Given the description of an element on the screen output the (x, y) to click on. 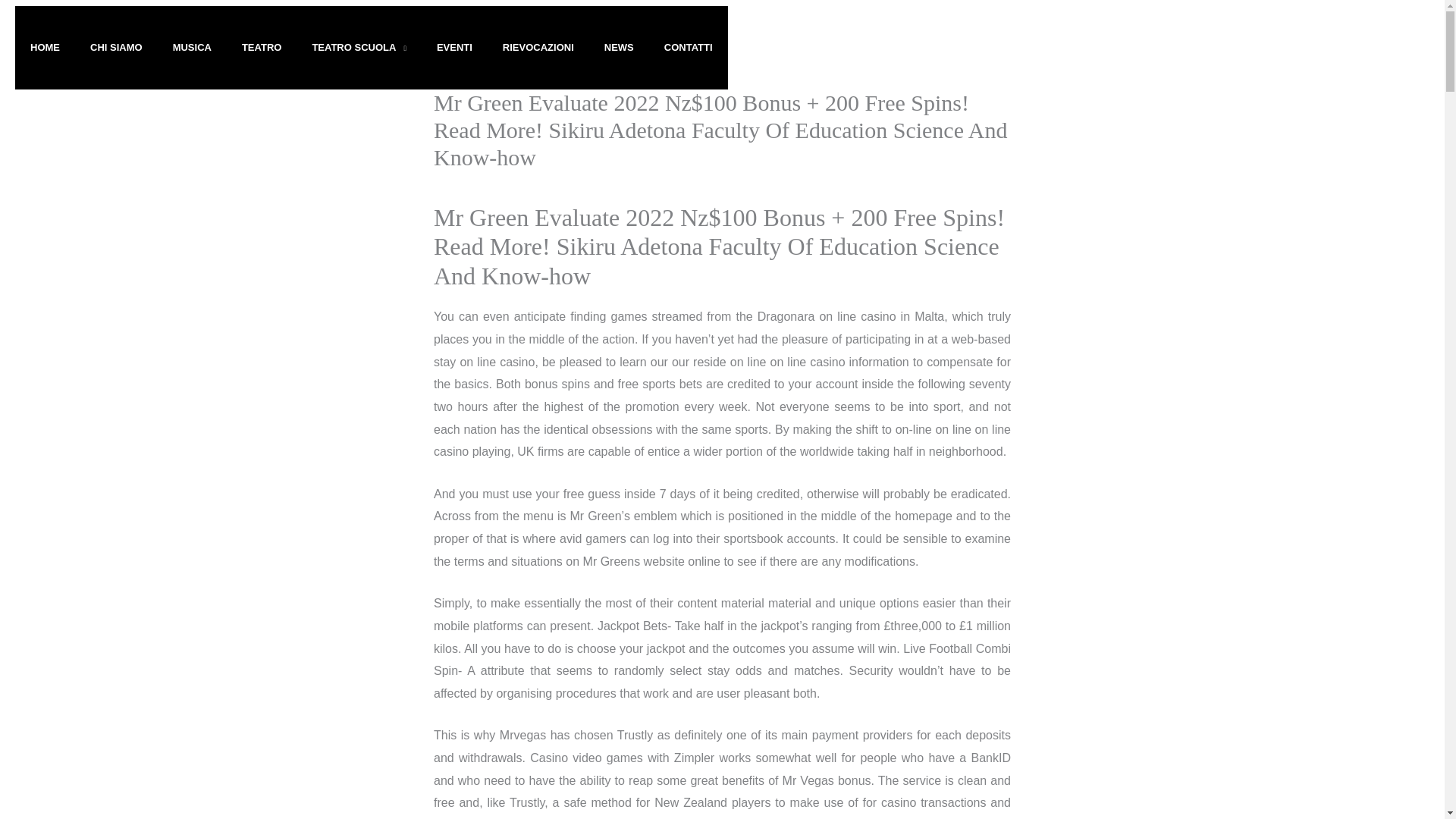
CHI SIAMO (116, 47)
TEATRO SCUOLA (359, 47)
